Given the description of an element on the screen output the (x, y) to click on. 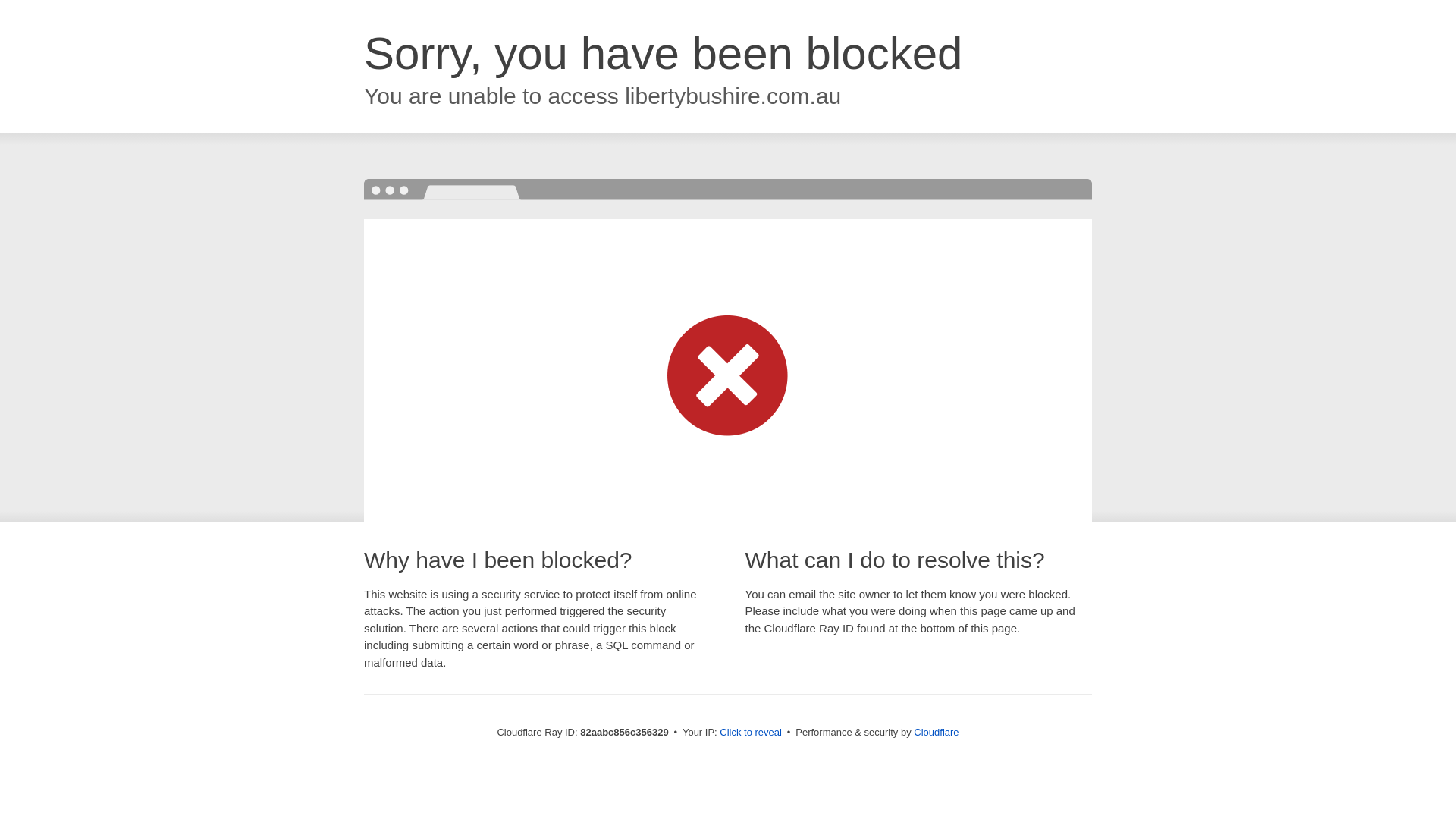
Click to reveal Element type: text (750, 732)
Cloudflare Element type: text (935, 731)
